Given the description of an element on the screen output the (x, y) to click on. 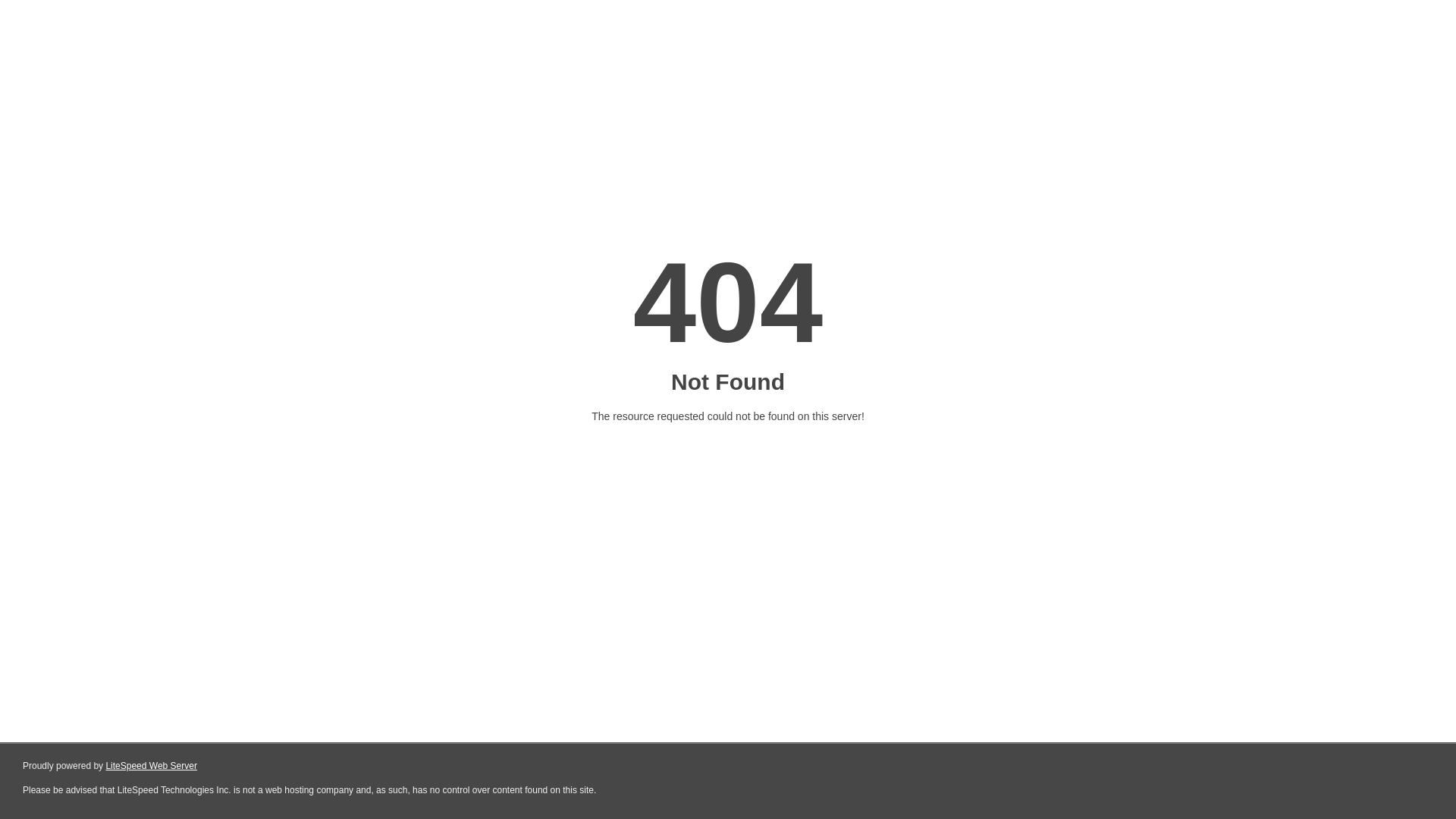
LiteSpeed Web Server Element type: text (151, 765)
